Given the description of an element on the screen output the (x, y) to click on. 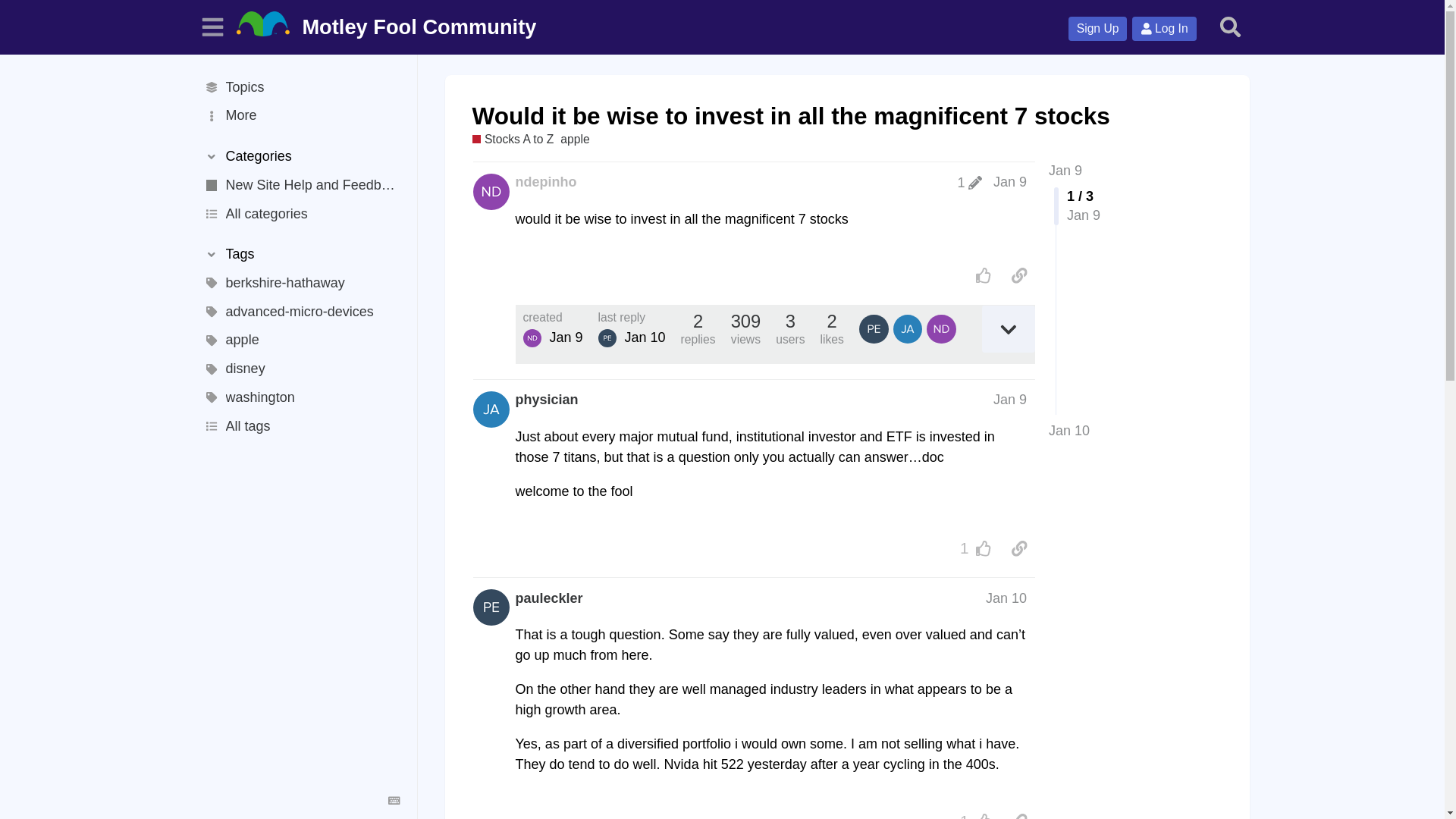
ndepinho (545, 181)
More (300, 115)
Log In (1163, 28)
Toggle section (300, 254)
Would it be wise to invest in all the magnificent 7 stocks (790, 115)
Toggle section (300, 156)
Jump to the first post (1064, 170)
Jan 9 (1064, 170)
Jump to the last post (1068, 430)
Topics (300, 86)
1 (969, 182)
Categories (300, 156)
All tags (300, 426)
Jan 10 (1068, 430)
